Given the description of an element on the screen output the (x, y) to click on. 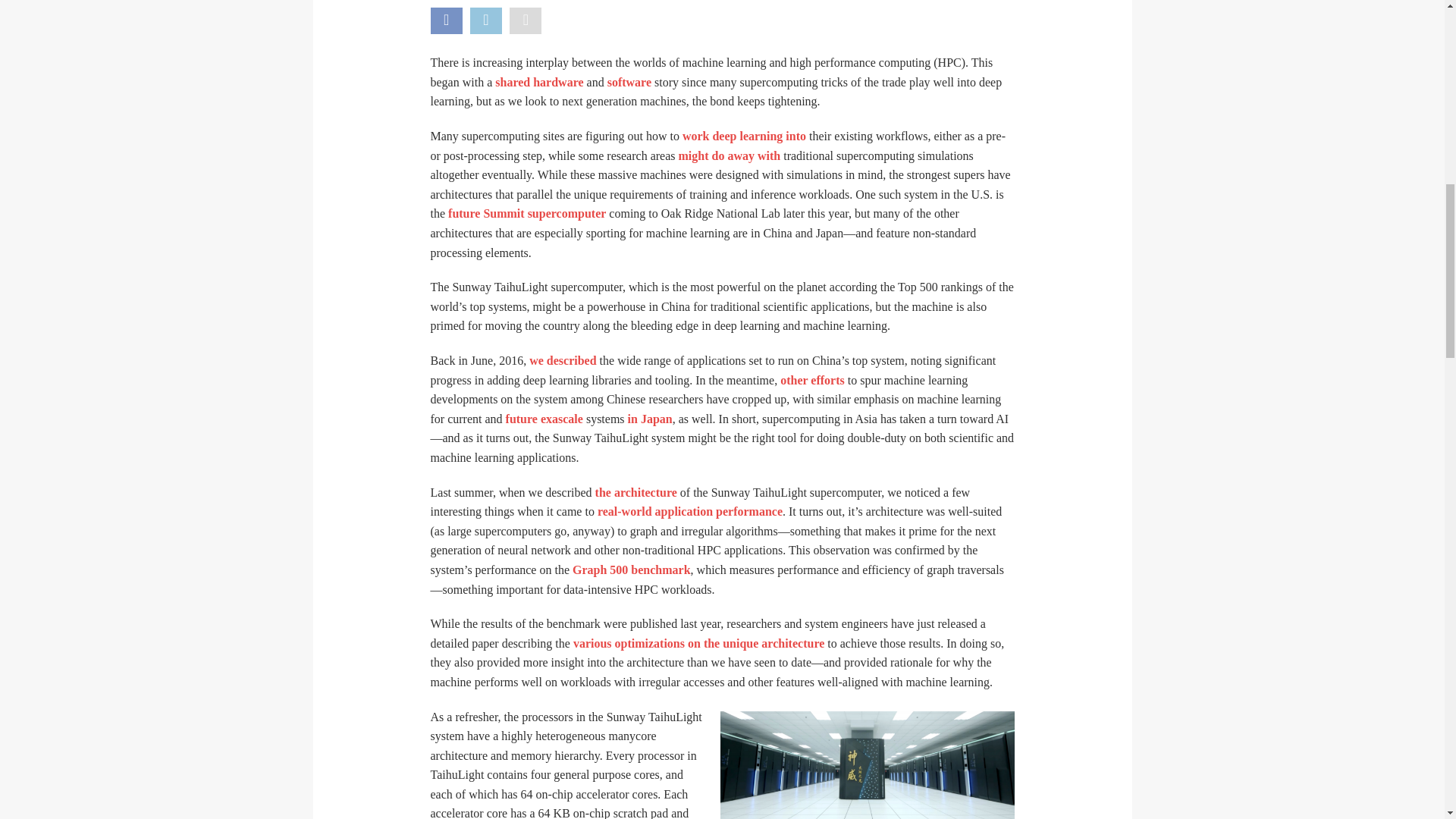
we described (562, 359)
work deep learning into (744, 135)
future exascale (544, 418)
software (628, 82)
shared hardware (539, 82)
future Summit supercomputer (526, 213)
other efforts (812, 379)
might do away with (729, 155)
